Given the description of an element on the screen output the (x, y) to click on. 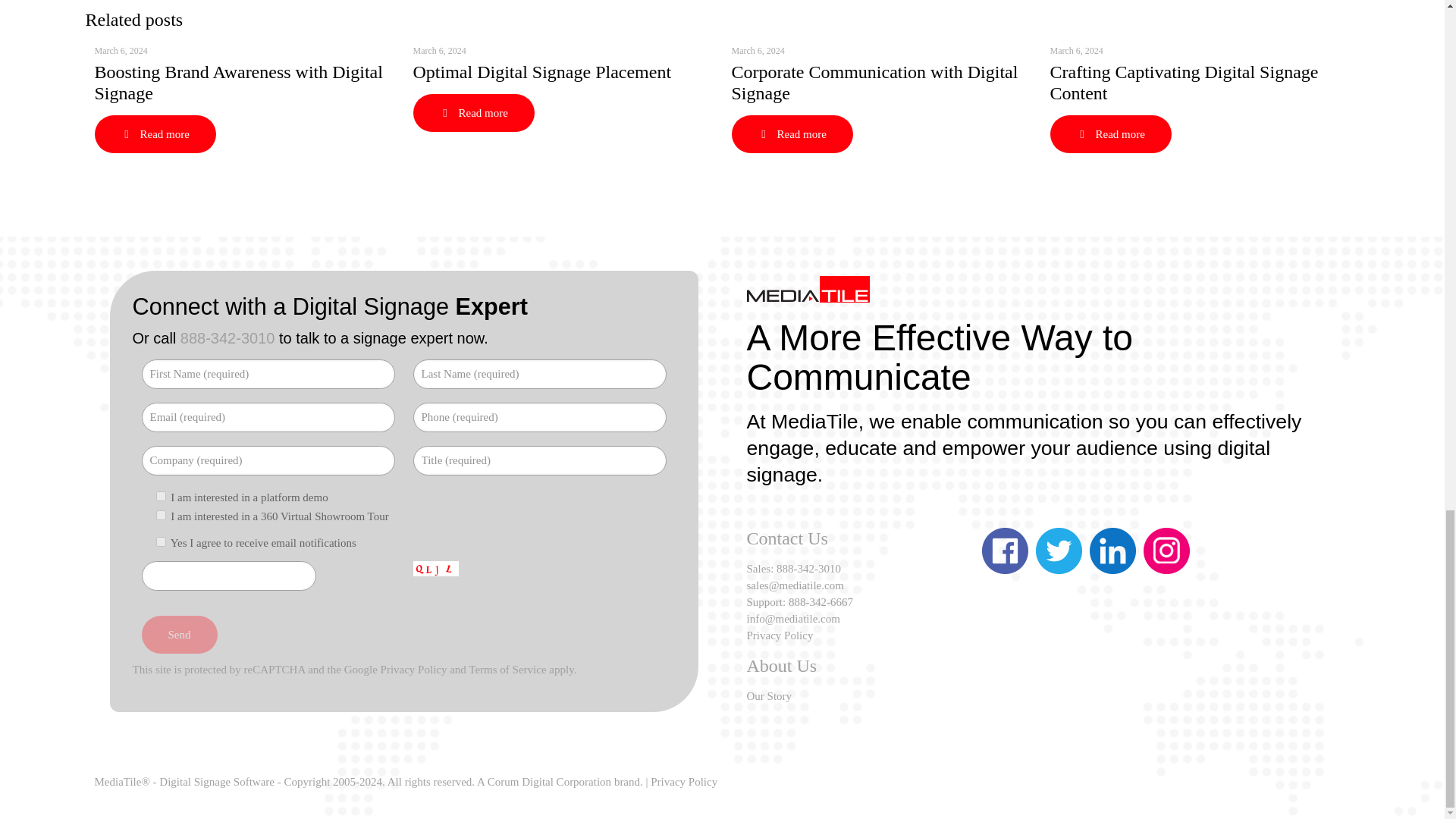
Yes I agree to receive email notifications (160, 542)
I am interested in a platform demo (160, 496)
Send (178, 634)
I am interested in a 360 Virtual Showroom Tour (160, 515)
